Given the description of an element on the screen output the (x, y) to click on. 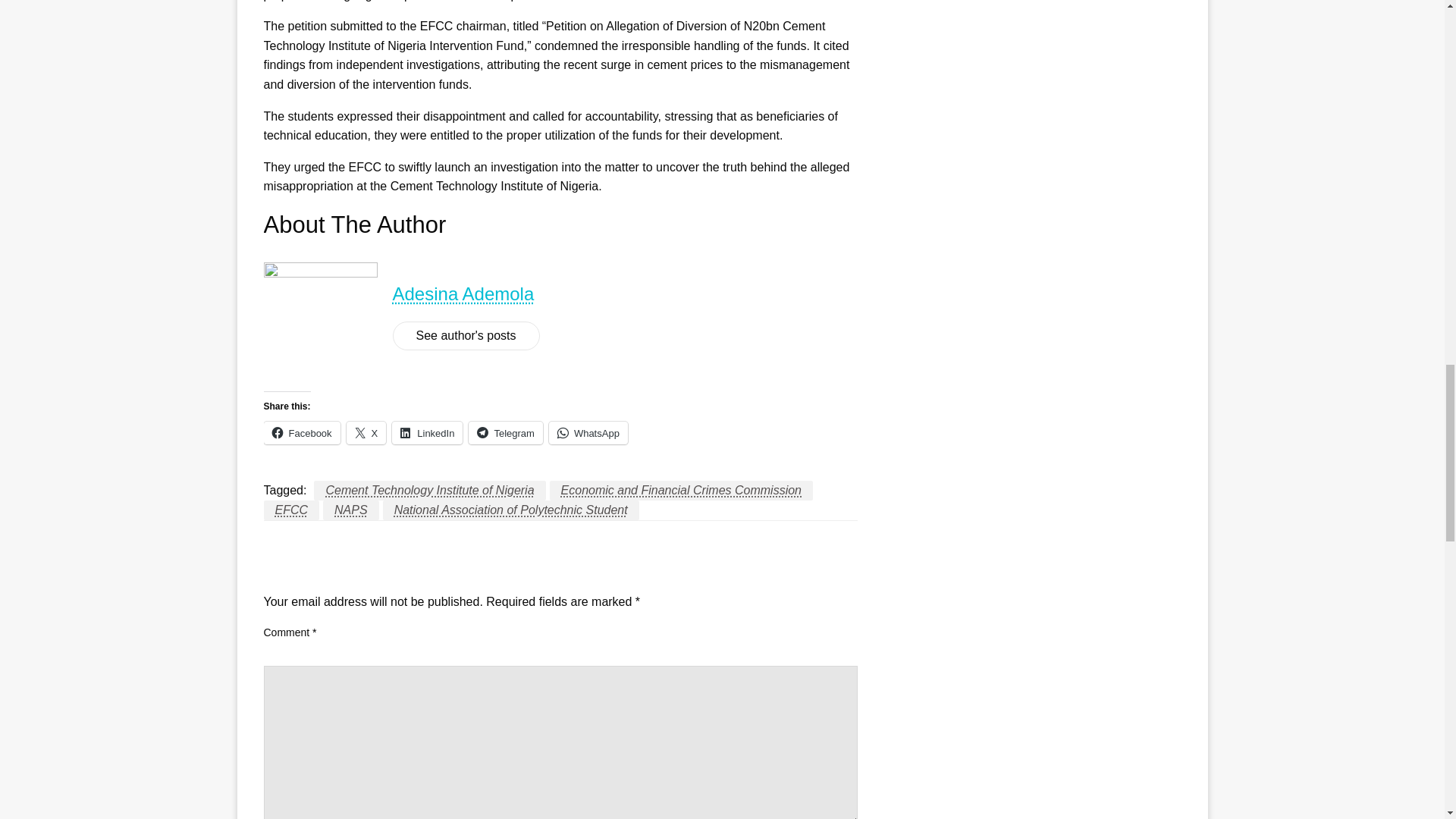
Adesina Ademola (463, 293)
Economic and Financial Crimes Commission (681, 490)
EFCC (291, 510)
WhatsApp (587, 432)
NAPS (350, 510)
Click to share on X (366, 432)
Click to share on LinkedIn (427, 432)
Click to share on Telegram (504, 432)
Facebook (301, 432)
Click to share on WhatsApp (587, 432)
X (366, 432)
National Association of Polytechnic Student (510, 510)
See author's posts (466, 335)
Telegram (504, 432)
Cement Technology Institute of Nigeria (429, 490)
